Given the description of an element on the screen output the (x, y) to click on. 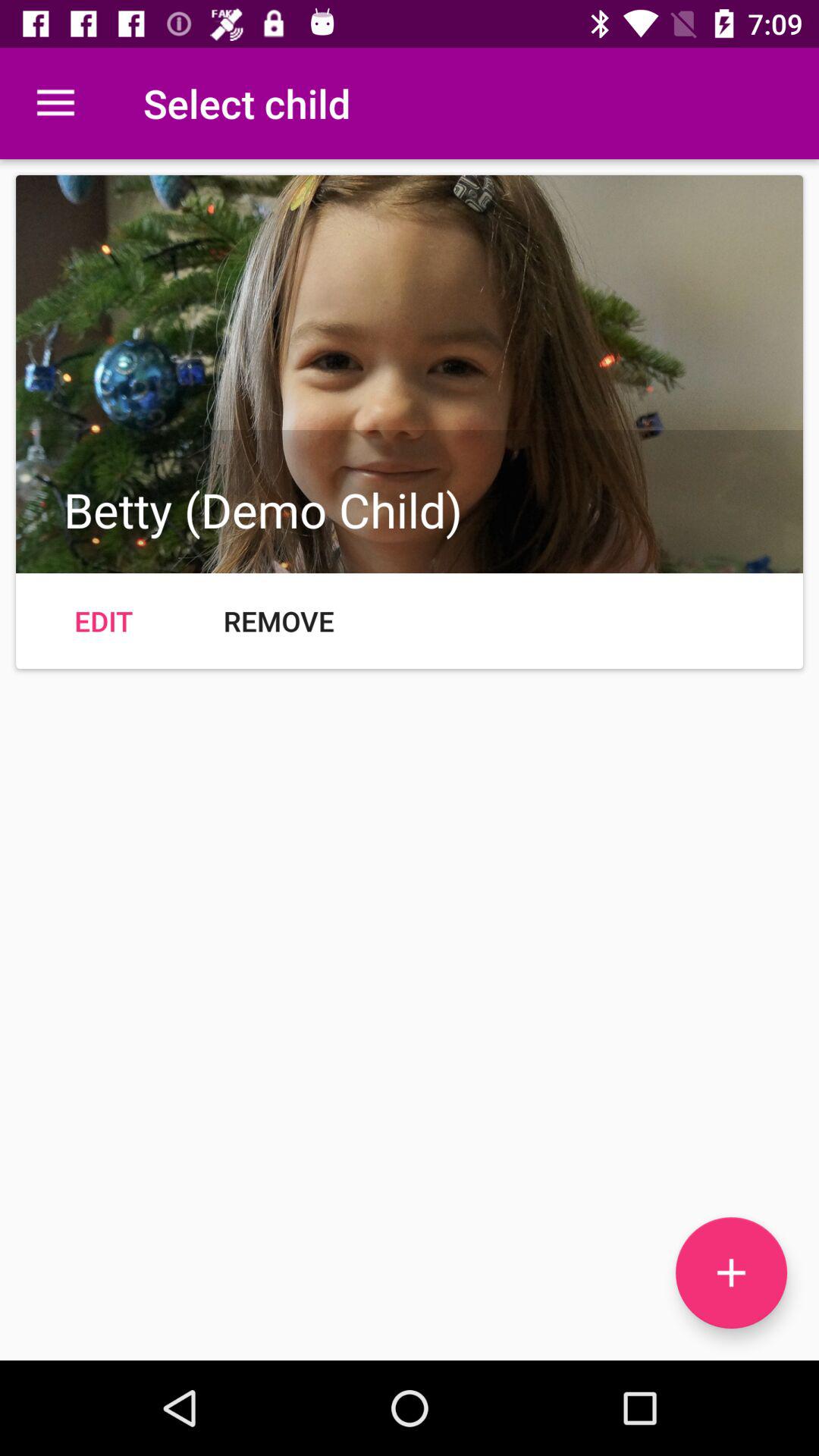
choose icon at the center (278, 620)
